Given the description of an element on the screen output the (x, y) to click on. 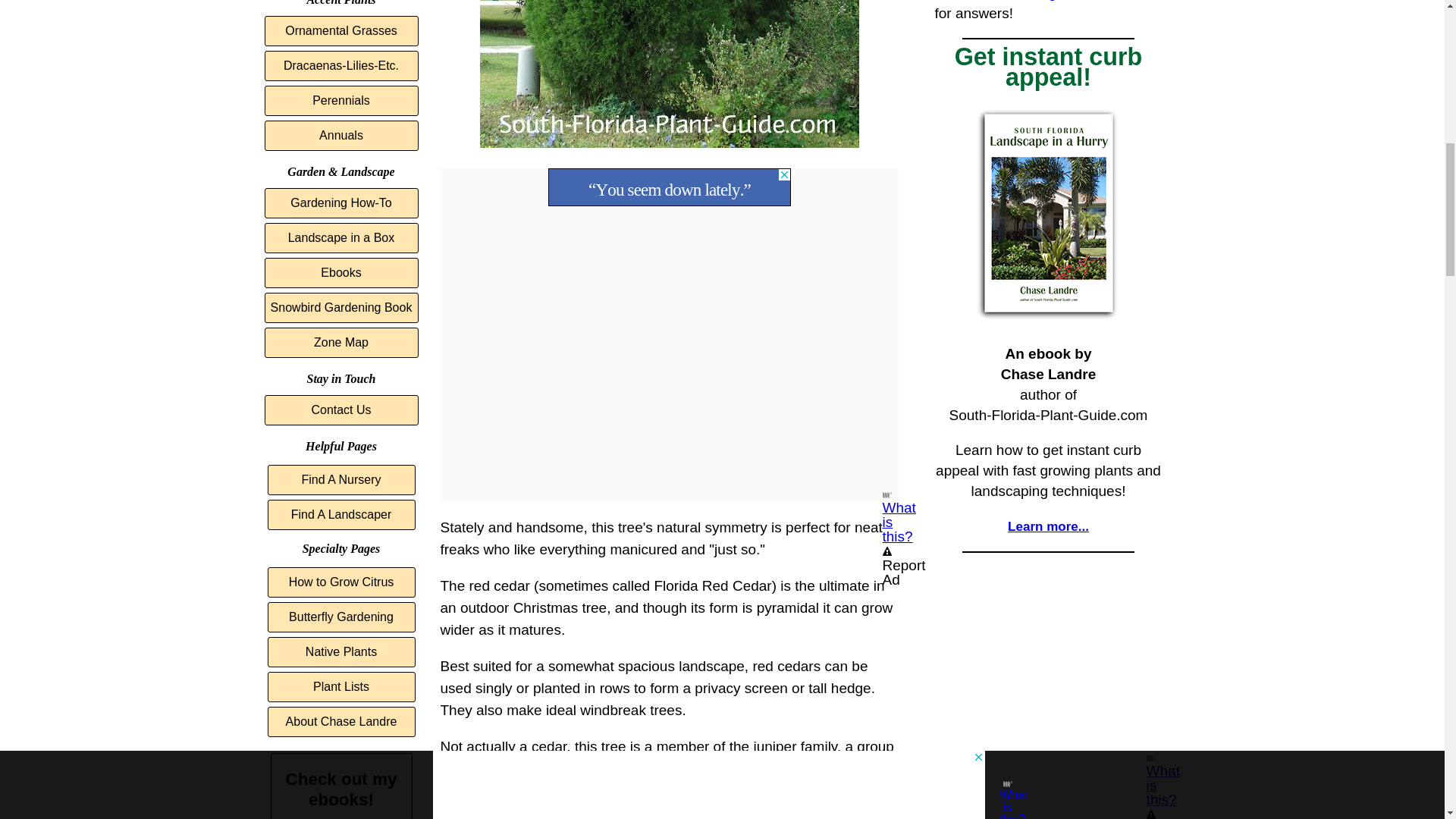
Ebooks (340, 272)
Annuals (340, 135)
Landscape in a Box (340, 237)
Gardening How-To (340, 203)
Snowbird Gardening Book (340, 307)
3rd party ad content (1047, 654)
Ornamental Grasses (340, 30)
Perennials (340, 100)
Dracaenas-Lilies-Etc. (340, 65)
3rd party ad content (668, 187)
cover Landscape in a Hurry (1048, 212)
pair of southern red cedar trees (669, 74)
